Given the description of an element on the screen output the (x, y) to click on. 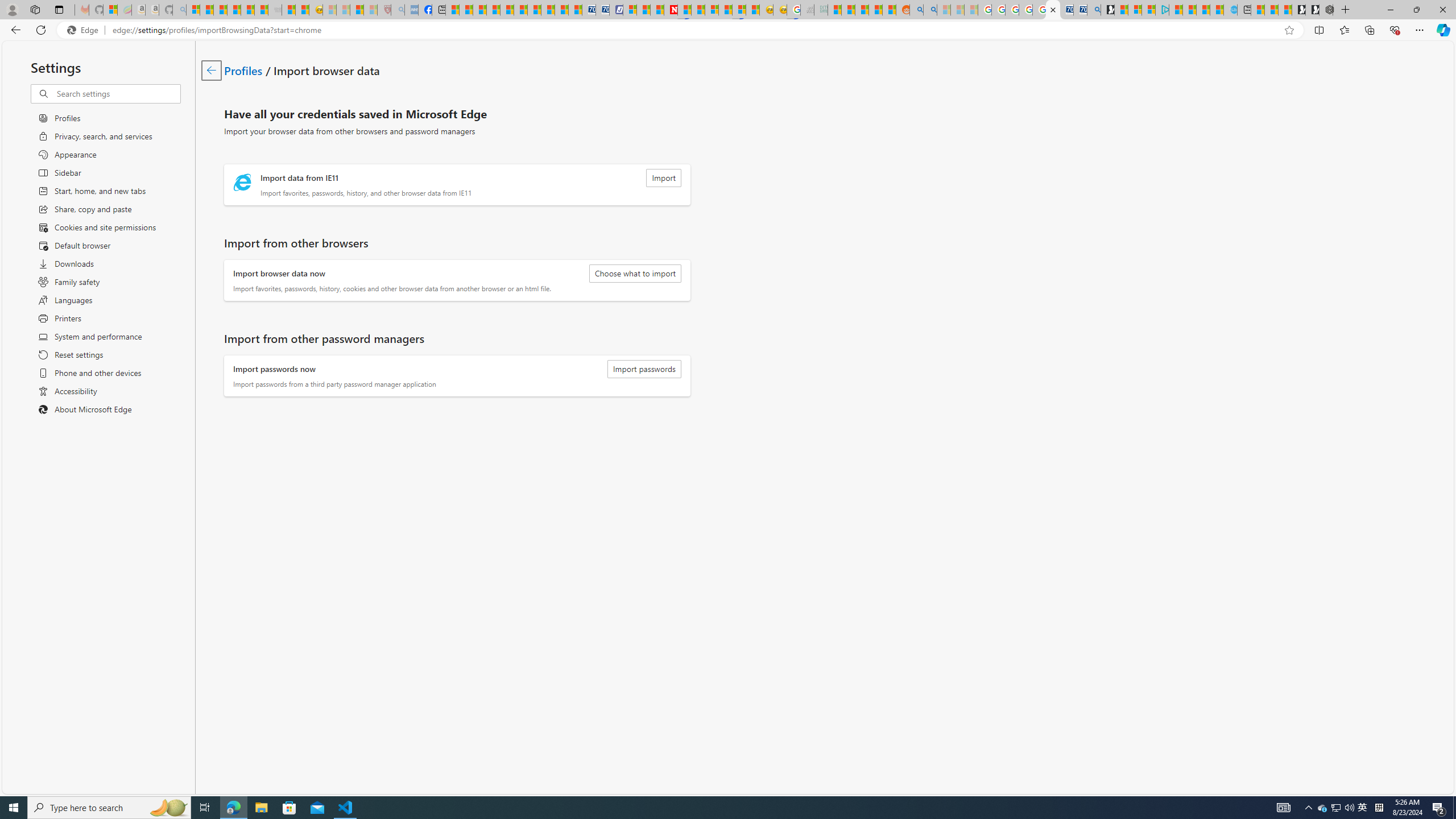
Cheap Hotels - Save70.com (602, 9)
Class: c01179 (210, 70)
Edge (84, 29)
